Given the description of an element on the screen output the (x, y) to click on. 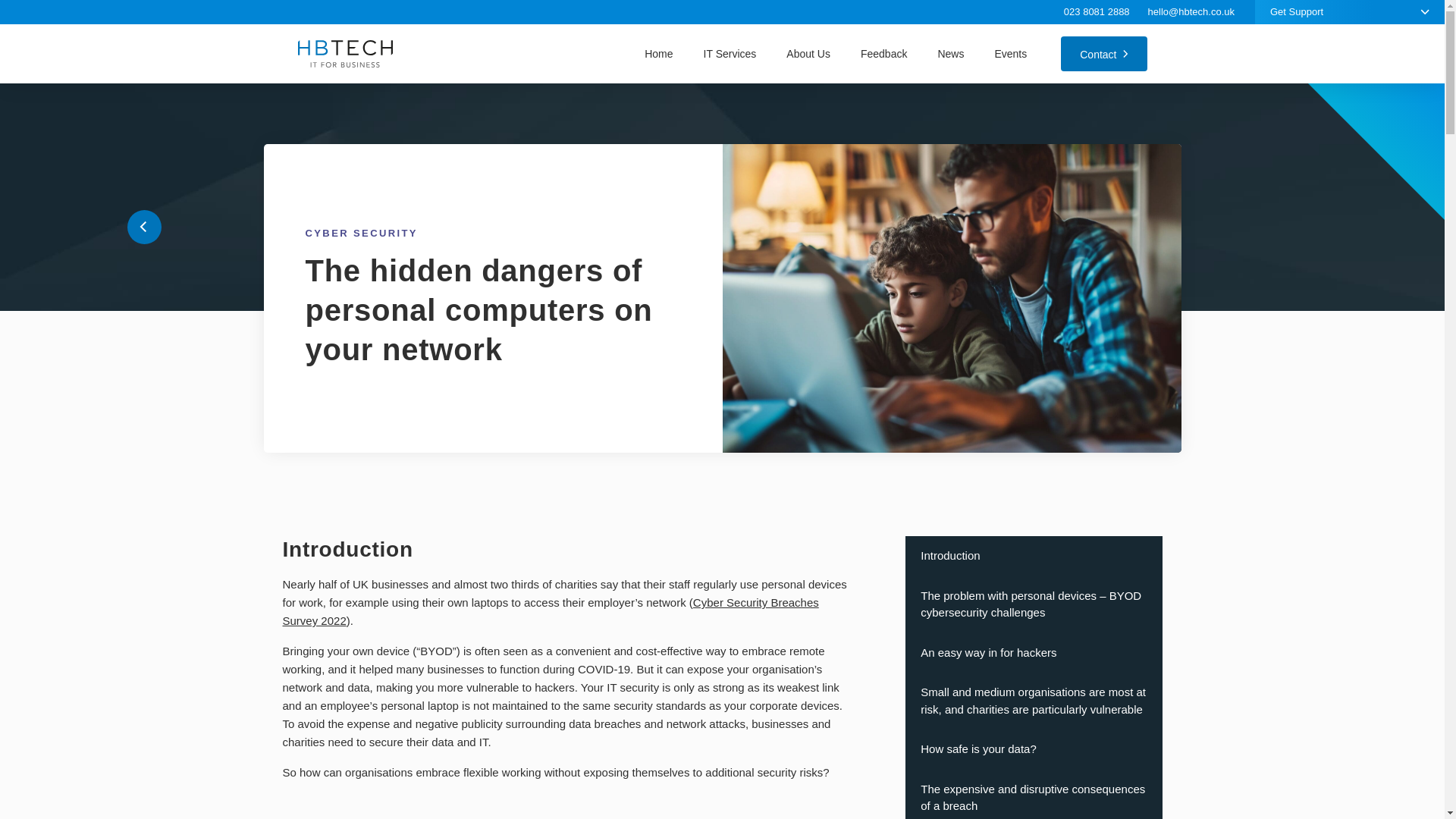
The expensive and disruptive consequences of a breach  (1033, 794)
Contact (1104, 53)
Home (658, 53)
News (950, 53)
023 8081 2888 (1096, 11)
An easy way in for hackers  (1033, 652)
IT Services (729, 53)
Cyber Security Breaches Survey 2022 (550, 611)
How safe is your data?  (1033, 749)
How safe is your data?  (1033, 749)
Introduction (1033, 556)
Introduction (1033, 556)
About Us (808, 53)
Introduction (1033, 556)
Events (1010, 53)
